Given the description of an element on the screen output the (x, y) to click on. 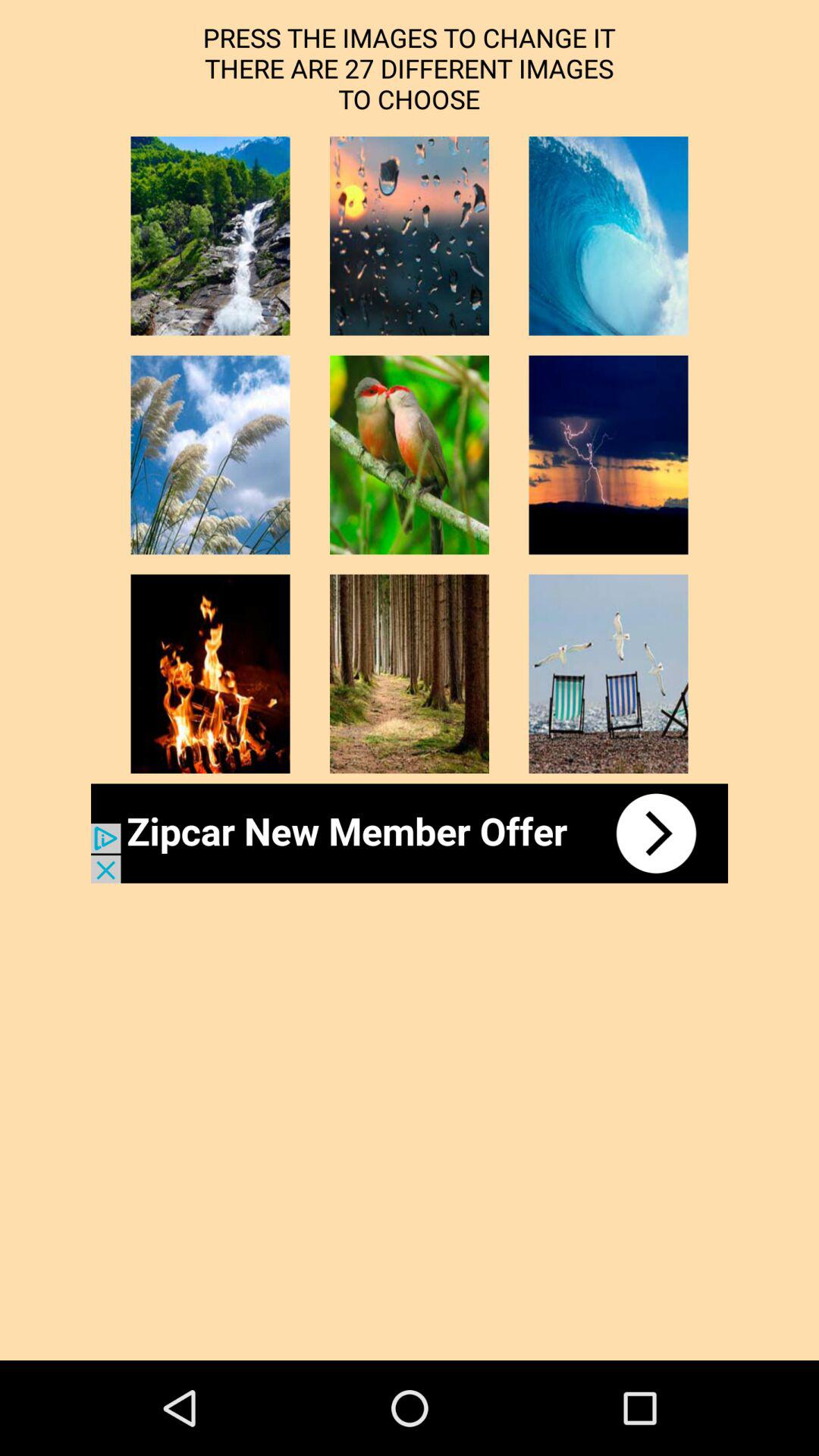
choose image (409, 673)
